Given the description of an element on the screen output the (x, y) to click on. 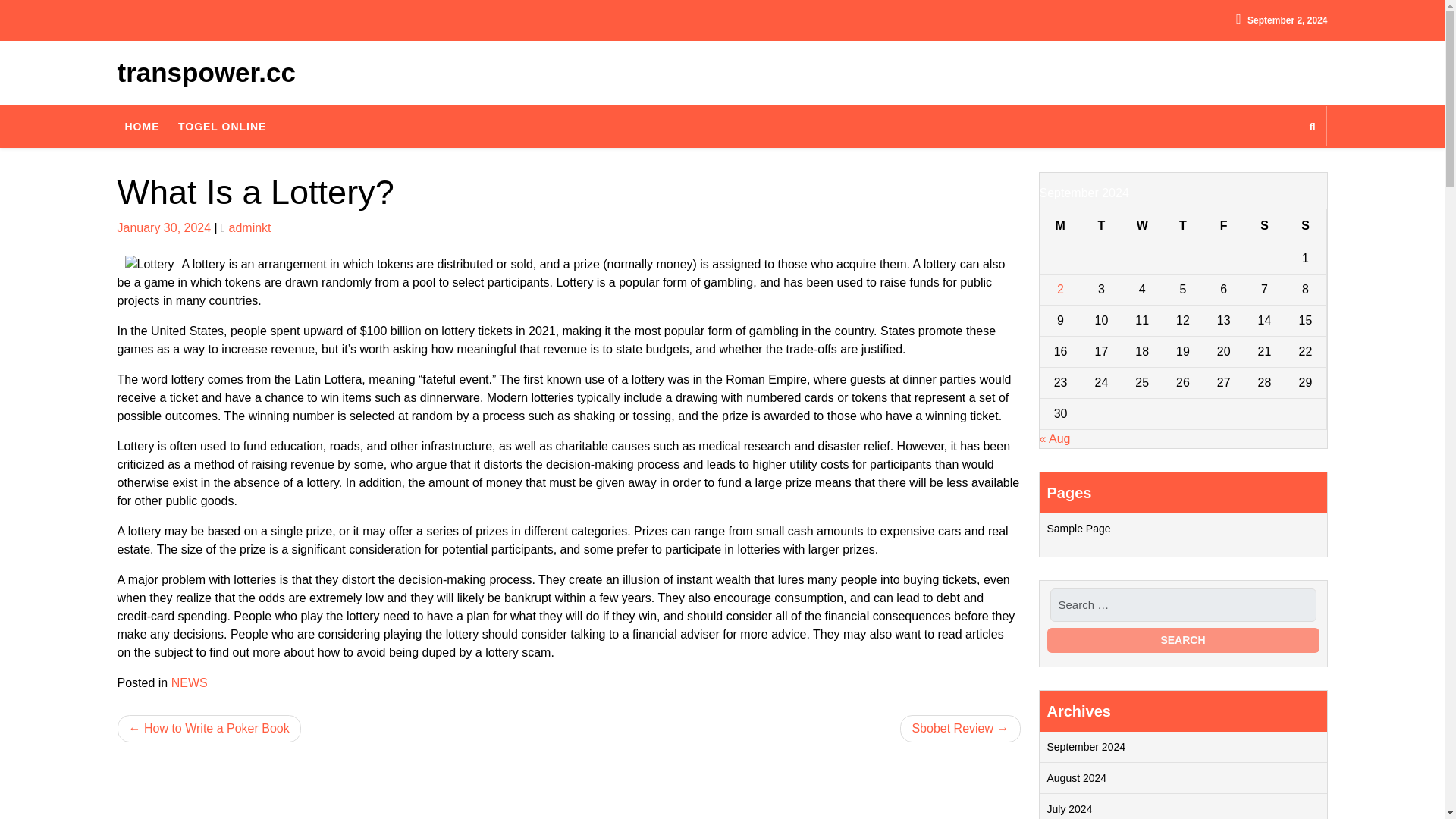
Sample Page (1077, 527)
Monday (1060, 225)
Friday (1224, 225)
Thursday (1182, 225)
Search (1182, 640)
HOME (141, 125)
Sbobet Review (959, 728)
TOGEL ONLINE (222, 125)
Sunday (1305, 225)
How to Write a Poker Book (207, 728)
